Given the description of an element on the screen output the (x, y) to click on. 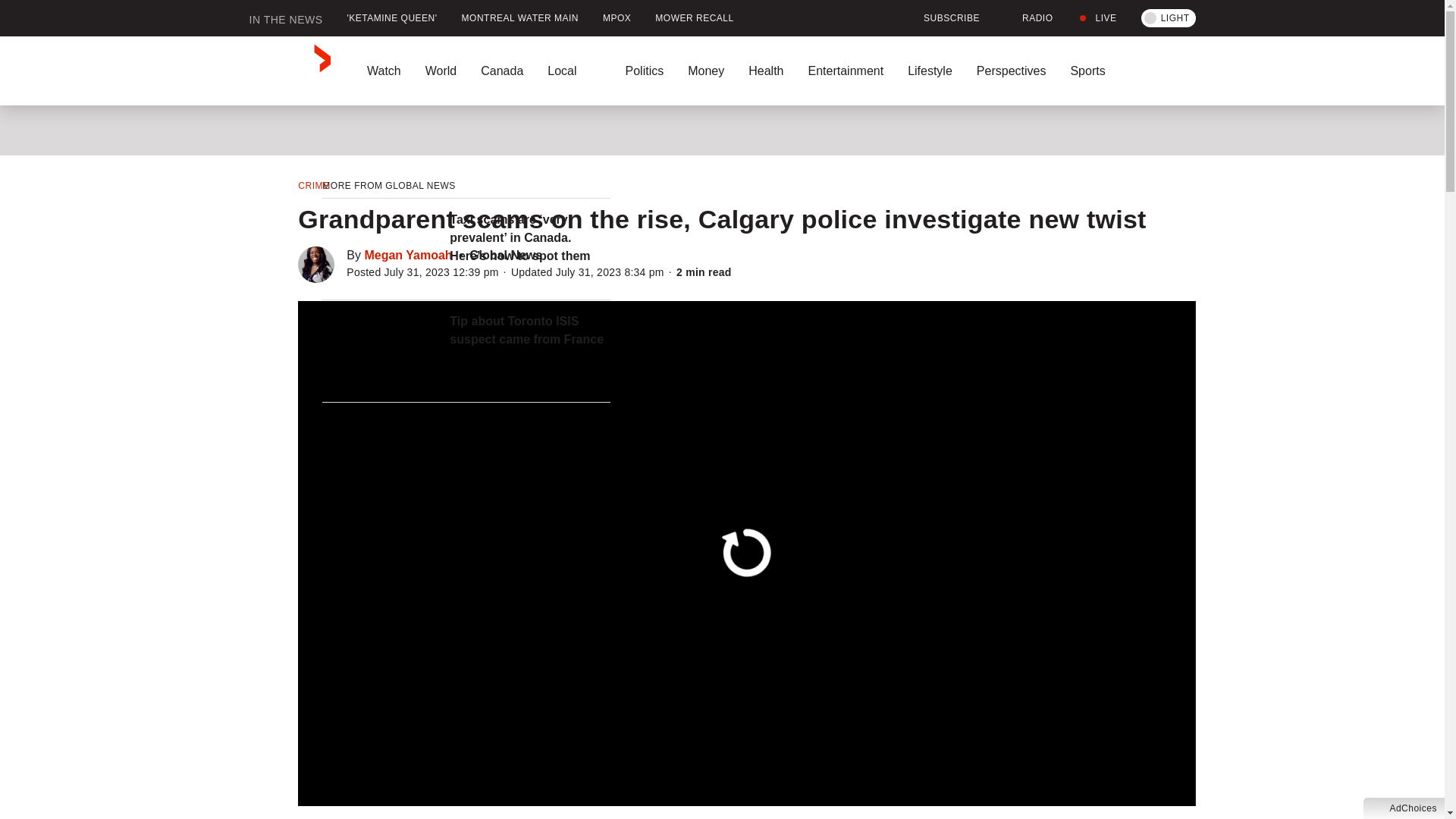
LIVE (1096, 18)
Posts by Megan Yamoah (407, 255)
SUBSCRIBE (942, 18)
Tip about Toronto ISIS suspect came from France (529, 330)
MPOX (617, 18)
'KETAMINE QUEEN' (391, 18)
Local (573, 70)
RADIO (1028, 18)
MONTREAL WATER MAIN (520, 18)
